Given the description of an element on the screen output the (x, y) to click on. 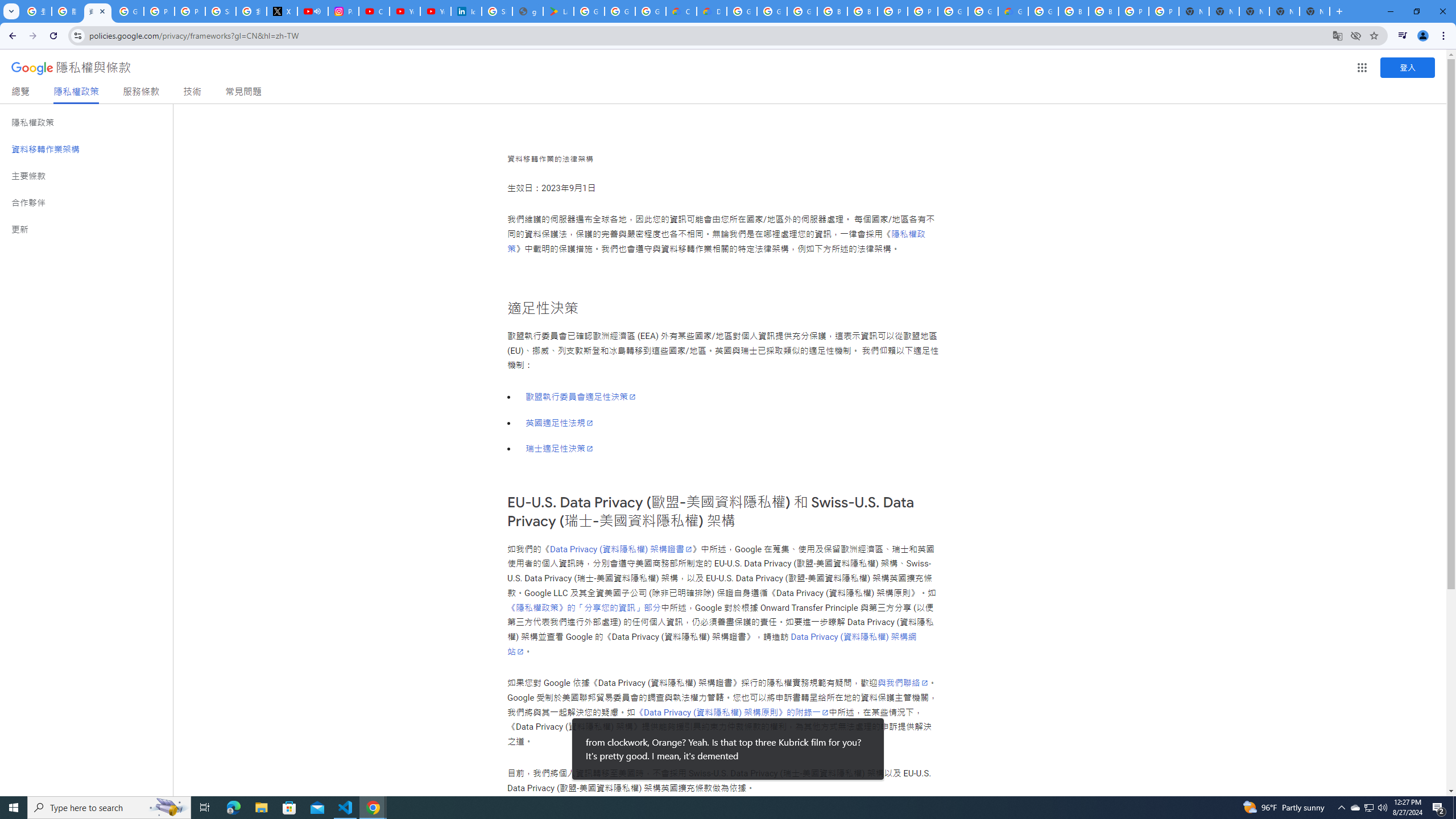
Google Cloud Platform (952, 11)
